Given the description of an element on the screen output the (x, y) to click on. 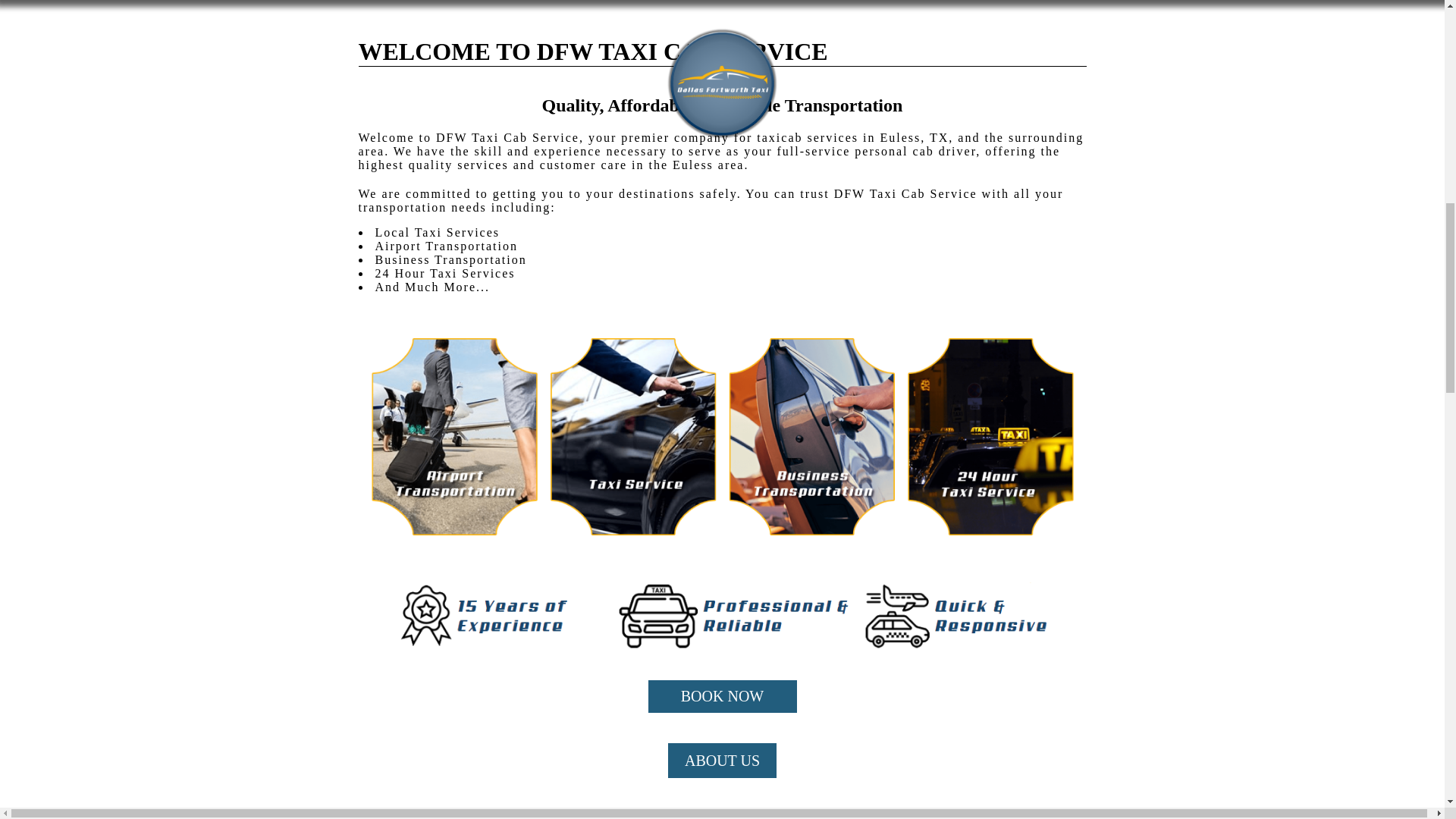
DFW Taxi Cab Service (507, 137)
ABOUT US (722, 760)
Airport Transportation (445, 245)
Euless, TX (914, 137)
taxicab service (804, 137)
BOOK NOW (721, 696)
Taxi Service (453, 232)
24 Hour Taxi (415, 273)
Business Transportation (449, 259)
cab (923, 151)
